Given the description of an element on the screen output the (x, y) to click on. 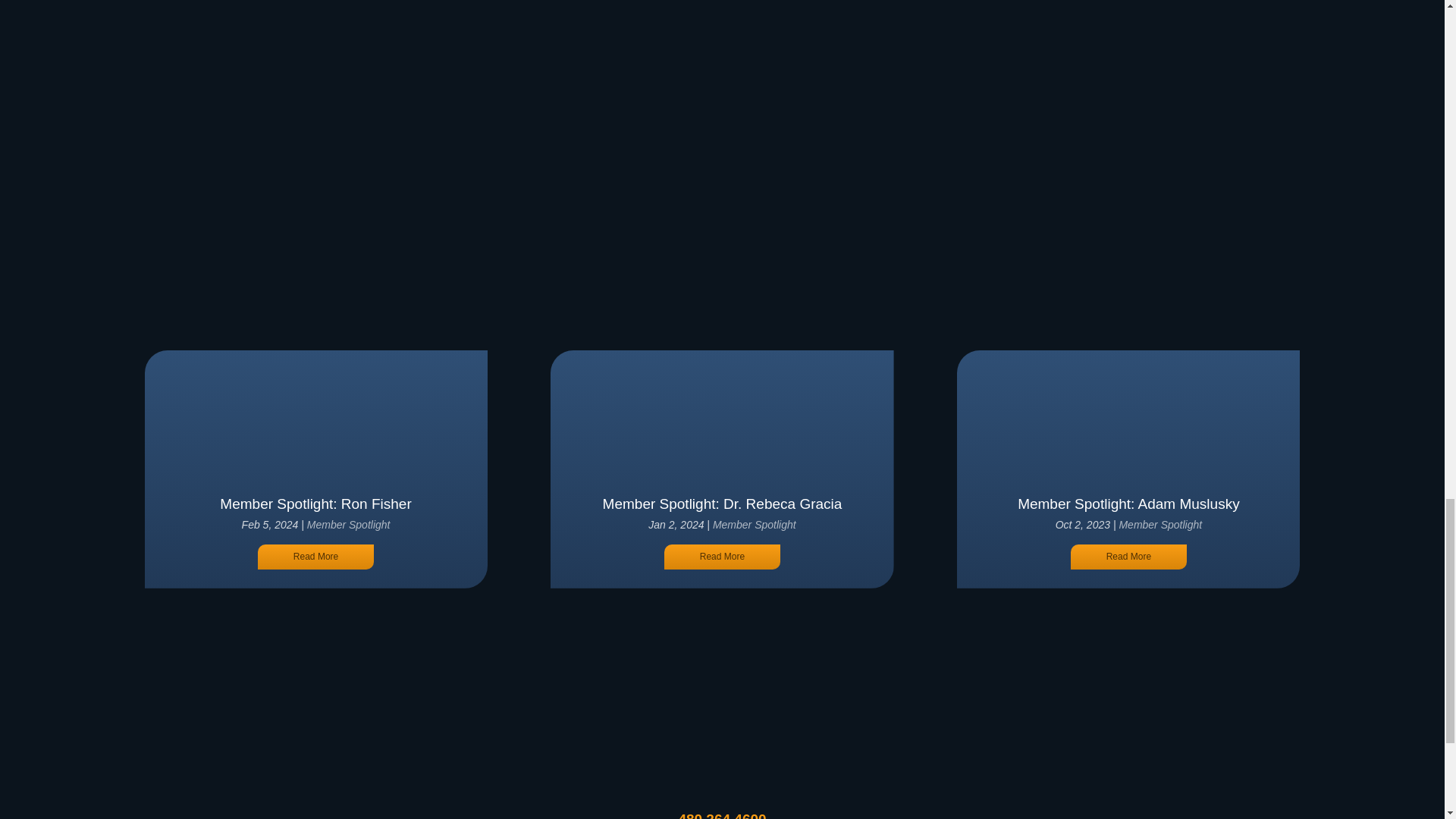
letip-logo-white (721, 757)
